Given the description of an element on the screen output the (x, y) to click on. 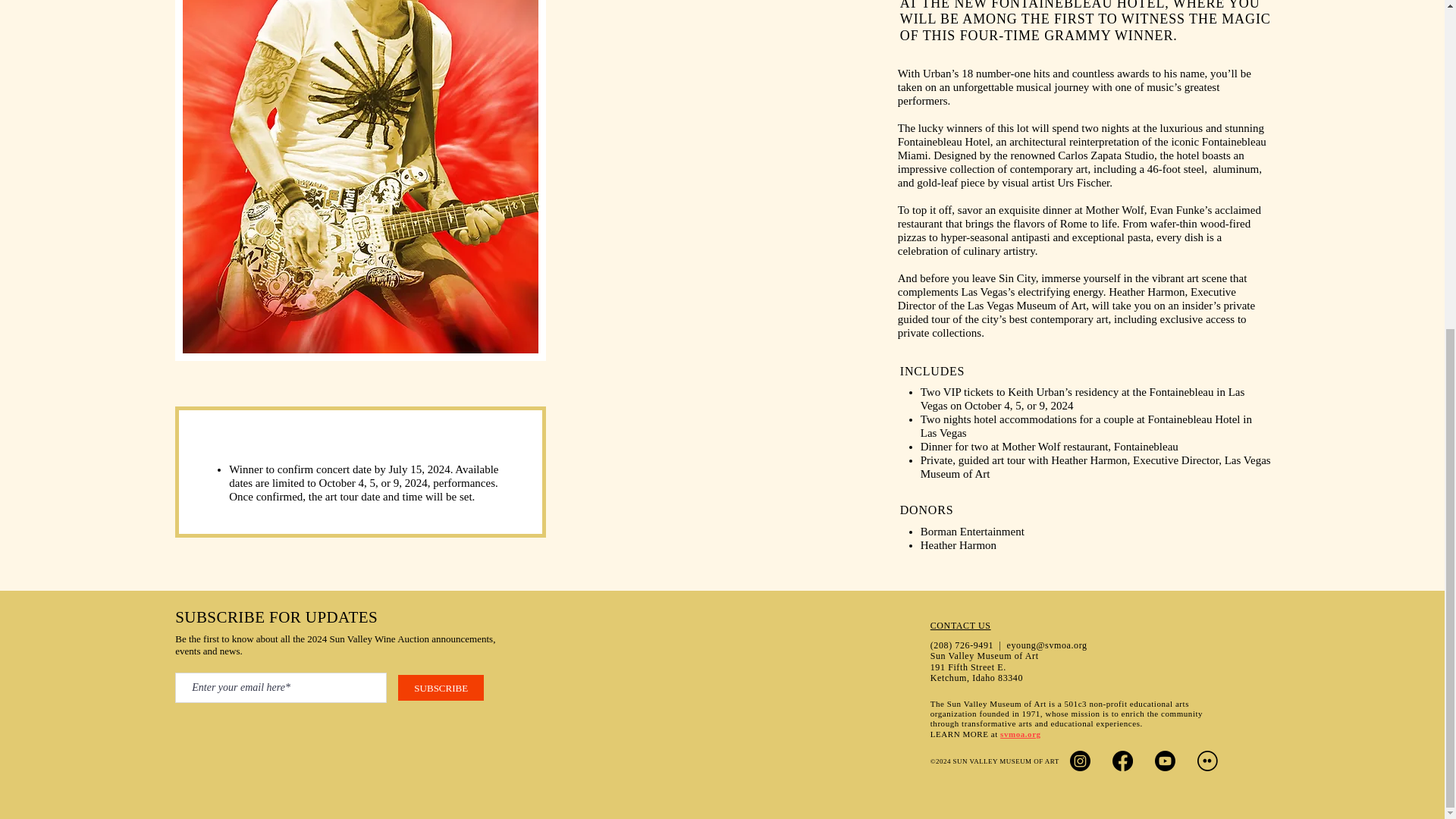
SUBSCRIBE (440, 687)
svmoa.org (1020, 733)
CONTACT US (960, 624)
